Given the description of an element on the screen output the (x, y) to click on. 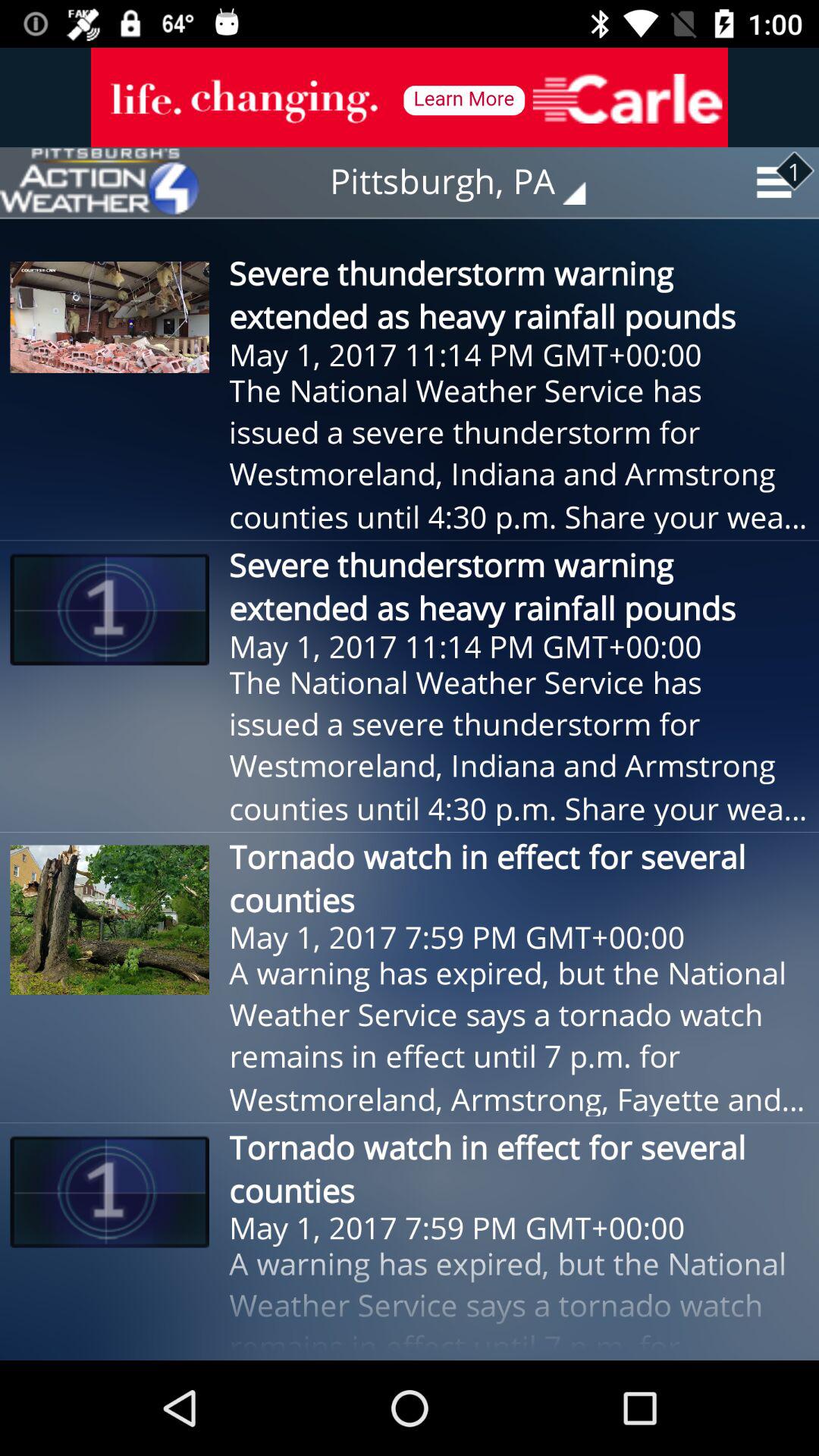
turn on the item to the left of pittsburgh, pa icon (99, 182)
